Given the description of an element on the screen output the (x, y) to click on. 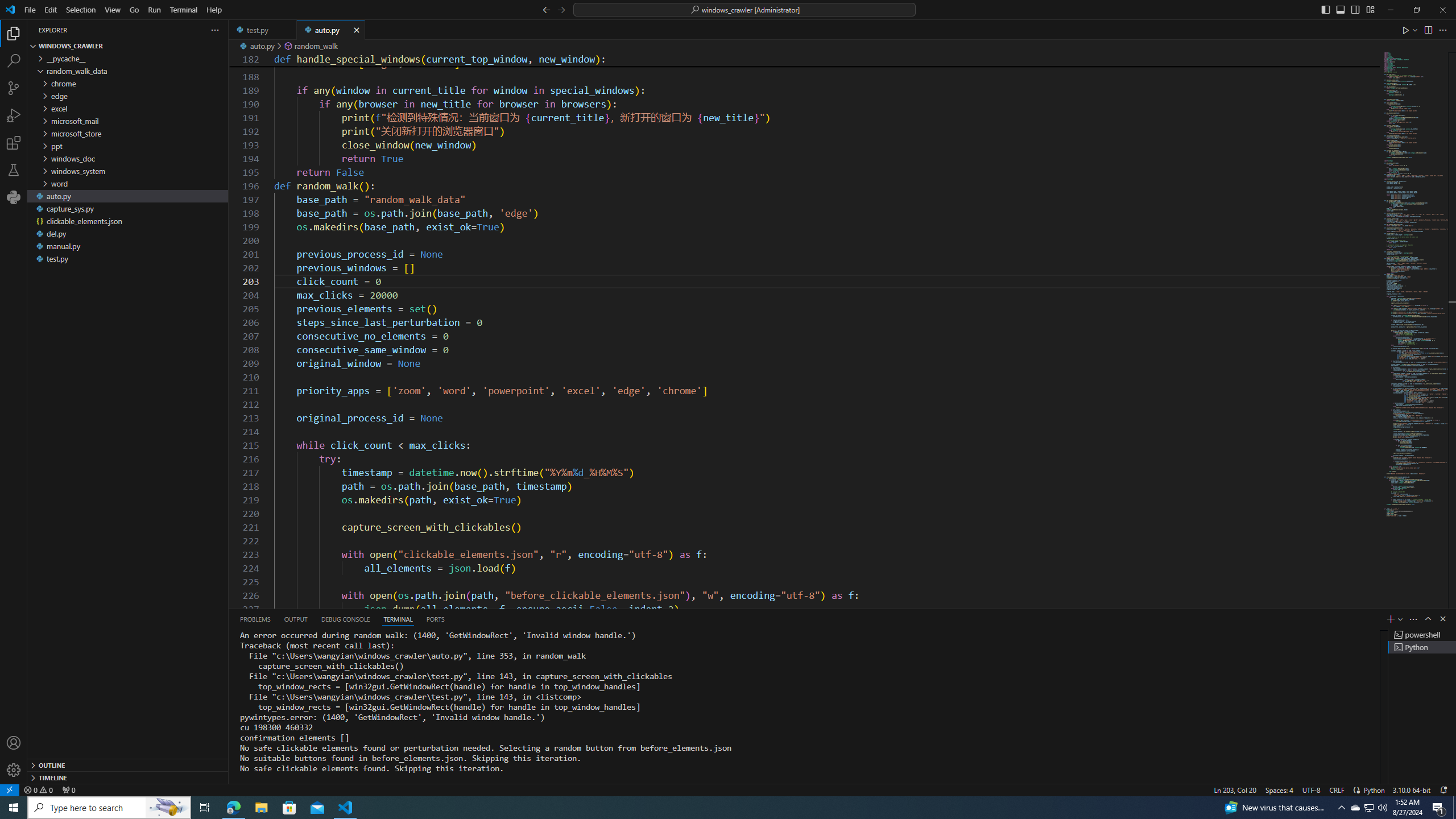
Debug Console (Ctrl+Shift+Y) (345, 618)
Toggle Primary Side Bar (Ctrl+B) (1325, 9)
Selection (80, 9)
Title actions (1347, 9)
Edit (50, 9)
Tab actions (355, 29)
File (30, 9)
Views and More Actions... (1412, 618)
No Problems (37, 789)
Run and Debug (Ctrl+Shift+D) (13, 115)
Python (13, 197)
Accounts (13, 742)
